Given the description of an element on the screen output the (x, y) to click on. 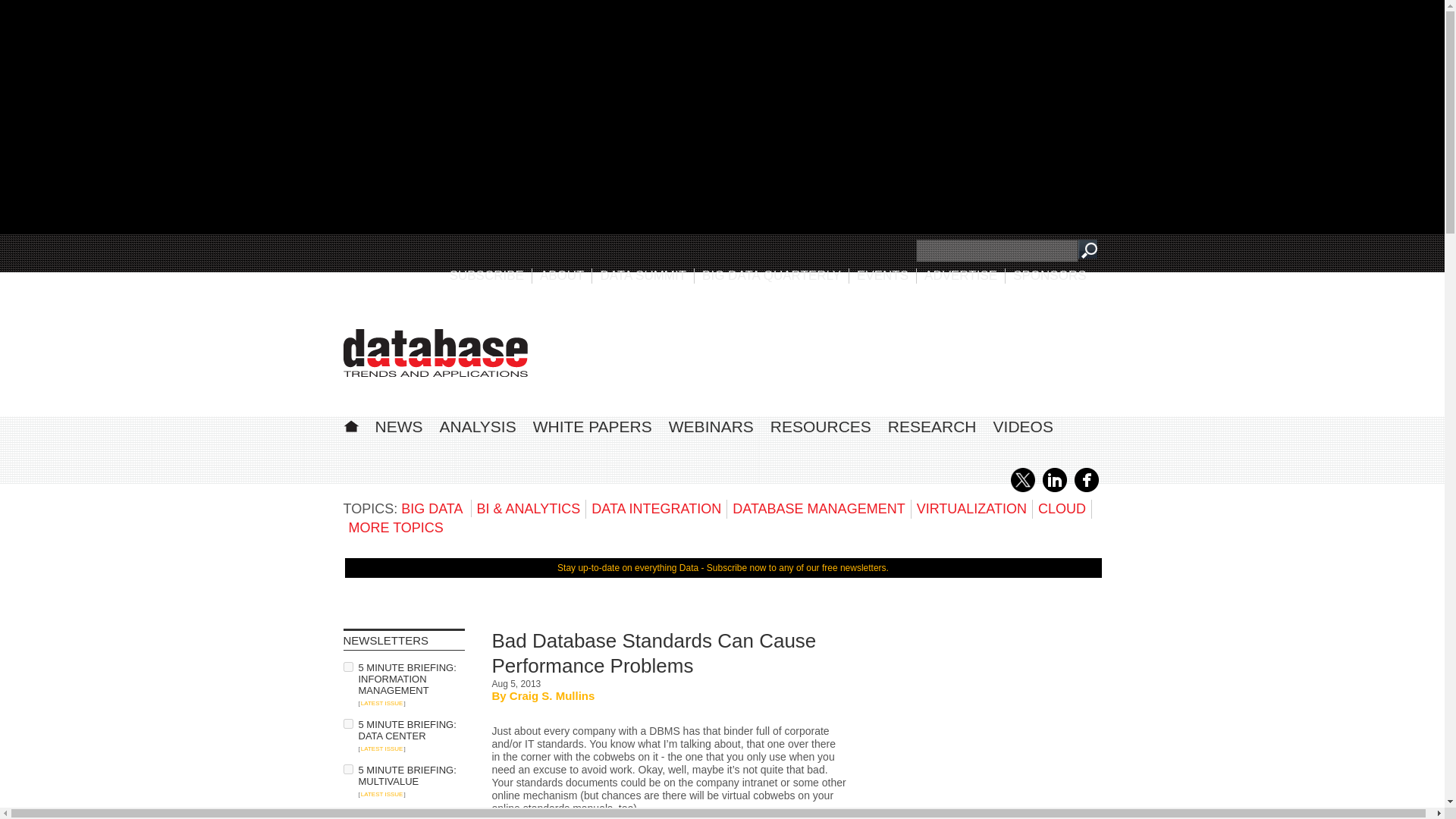
DBTA (434, 352)
VIDEOS (1022, 425)
Database Trends and Applications Home (350, 424)
on (347, 768)
SPONSORS (1049, 275)
DBTA (434, 352)
3rd party ad content (986, 723)
on (347, 666)
DBTA on Facebook (1085, 489)
DBTA on LinkedIn (1053, 489)
SUBSCRIBE (486, 275)
RESOURCES (820, 425)
on (347, 814)
ADVERTISE (960, 275)
ABOUT (562, 275)
